Given the description of an element on the screen output the (x, y) to click on. 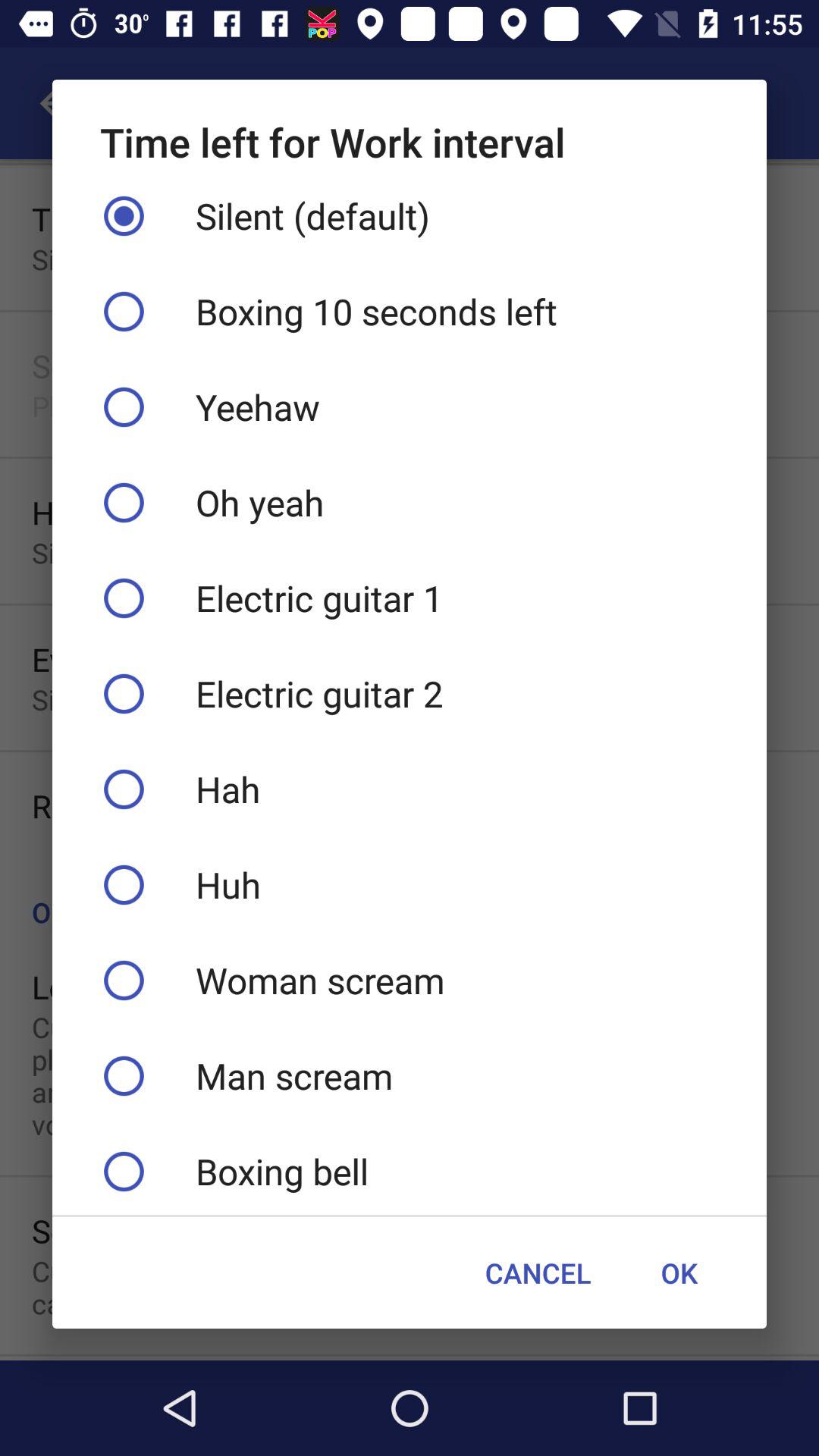
select the item below boxing bell (678, 1272)
